Given the description of an element on the screen output the (x, y) to click on. 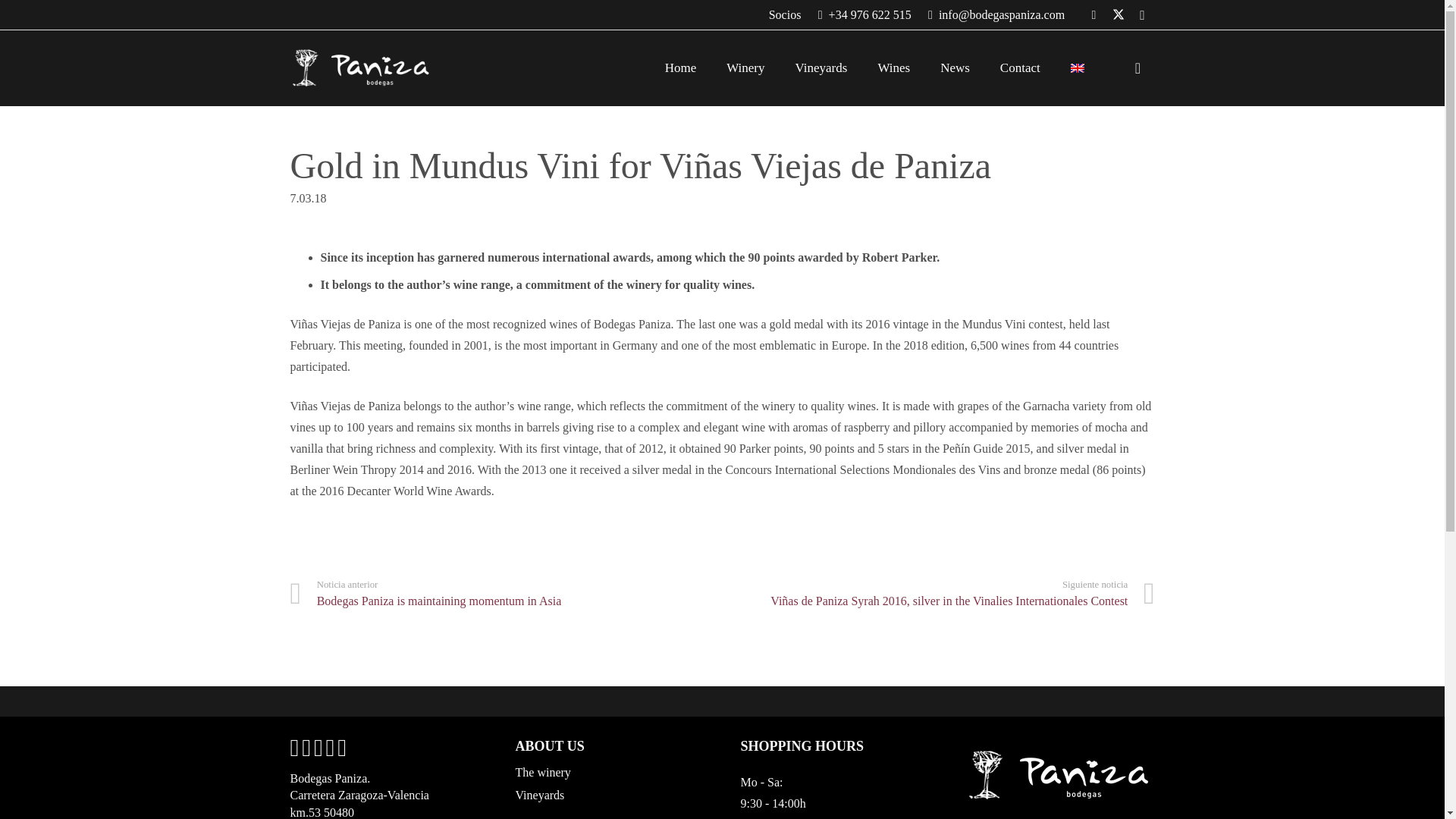
Socios (785, 14)
Facebook (1093, 15)
Instagram (1141, 15)
Bodegas Paniza is maintaining momentum in Asia (505, 594)
Vineyards (821, 67)
Home (680, 67)
Winery (744, 67)
Contact (1020, 67)
Wines (892, 67)
Twitter (1117, 15)
News (954, 67)
